Given the description of an element on the screen output the (x, y) to click on. 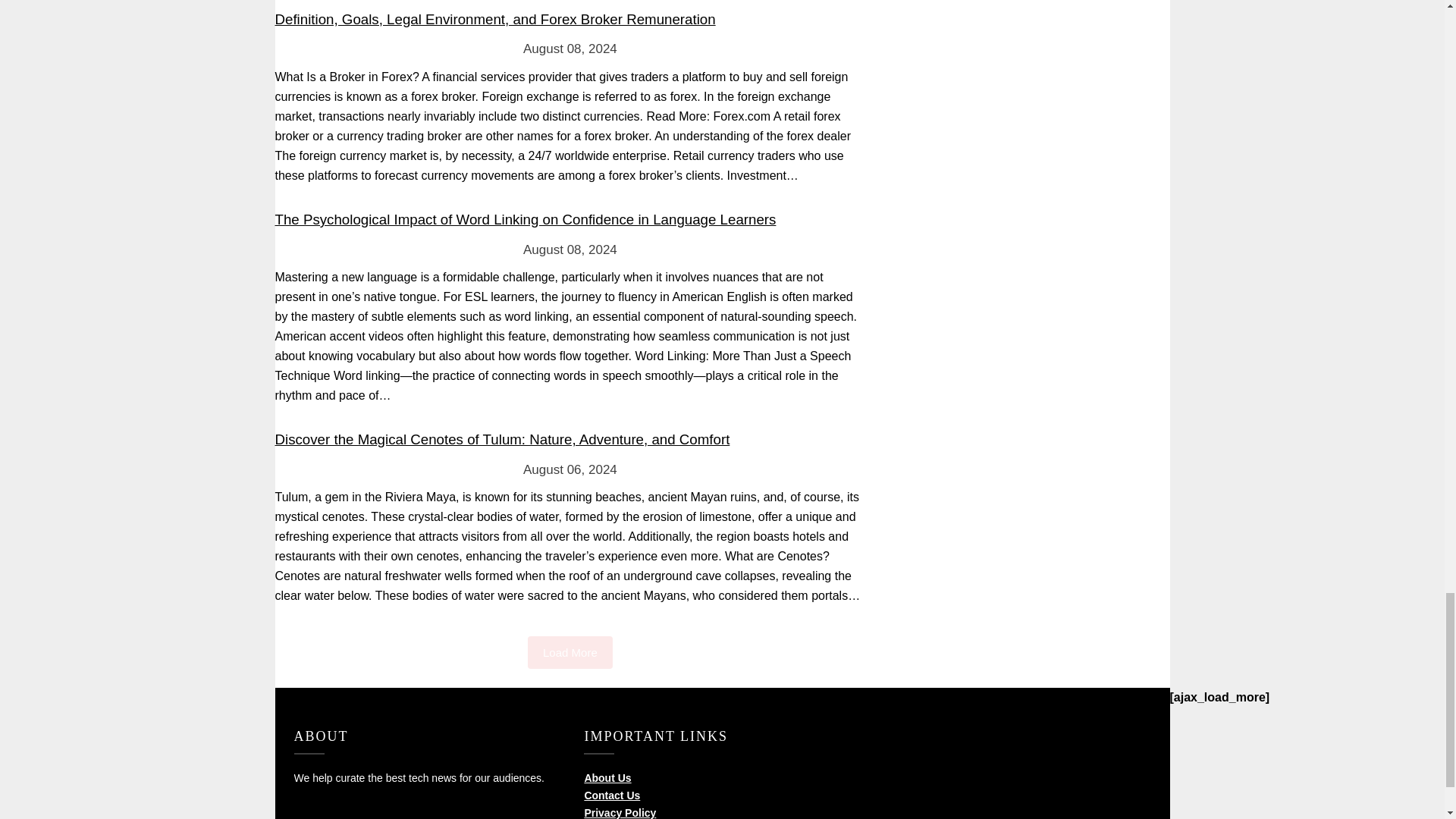
Load More (569, 652)
About Us (606, 777)
Contact Us (611, 795)
